Given the description of an element on the screen output the (x, y) to click on. 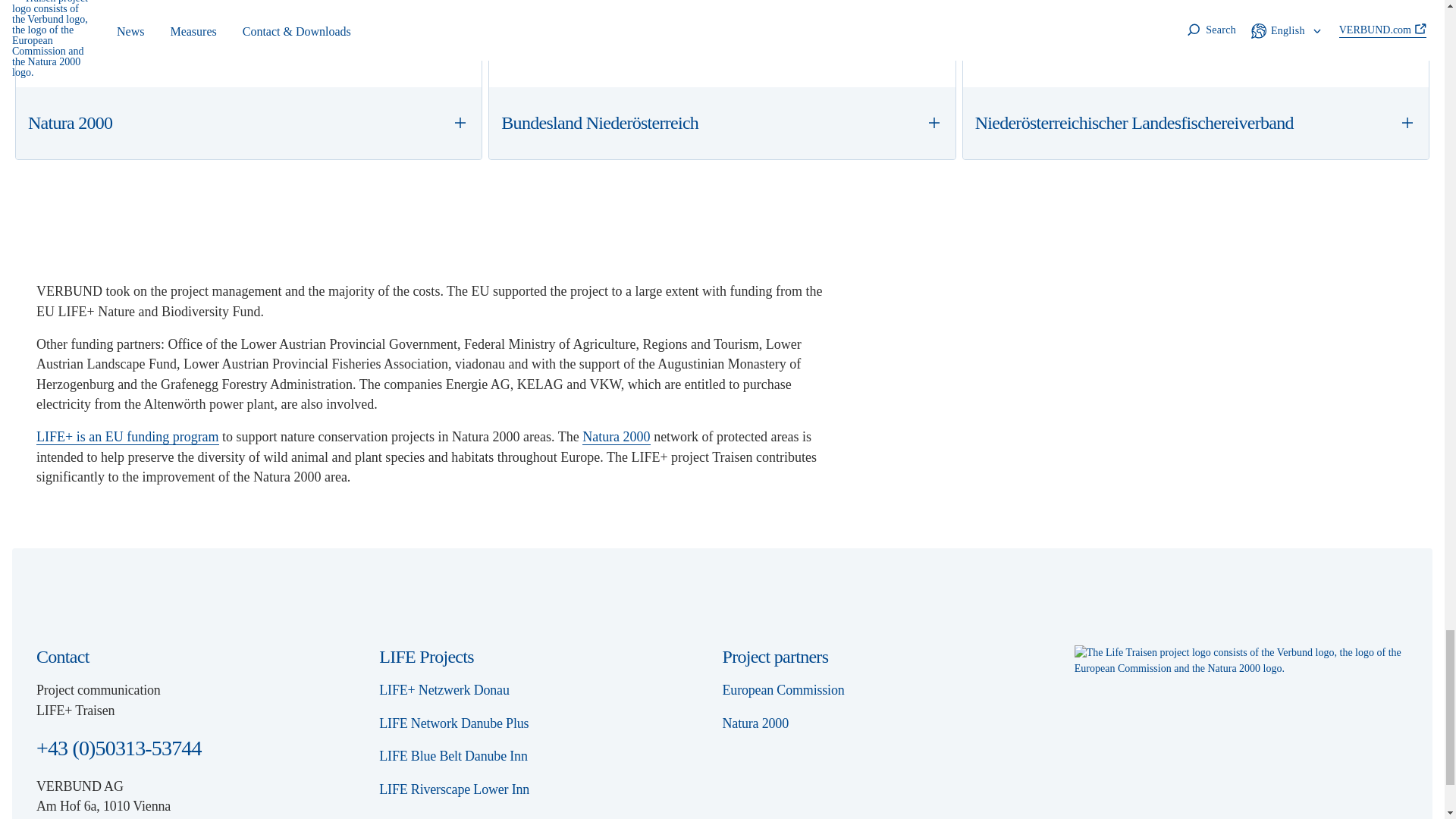
LIFE Network Danube Plus (461, 722)
Natura 2000 (248, 122)
Natura 2000 (615, 437)
